Given the description of an element on the screen output the (x, y) to click on. 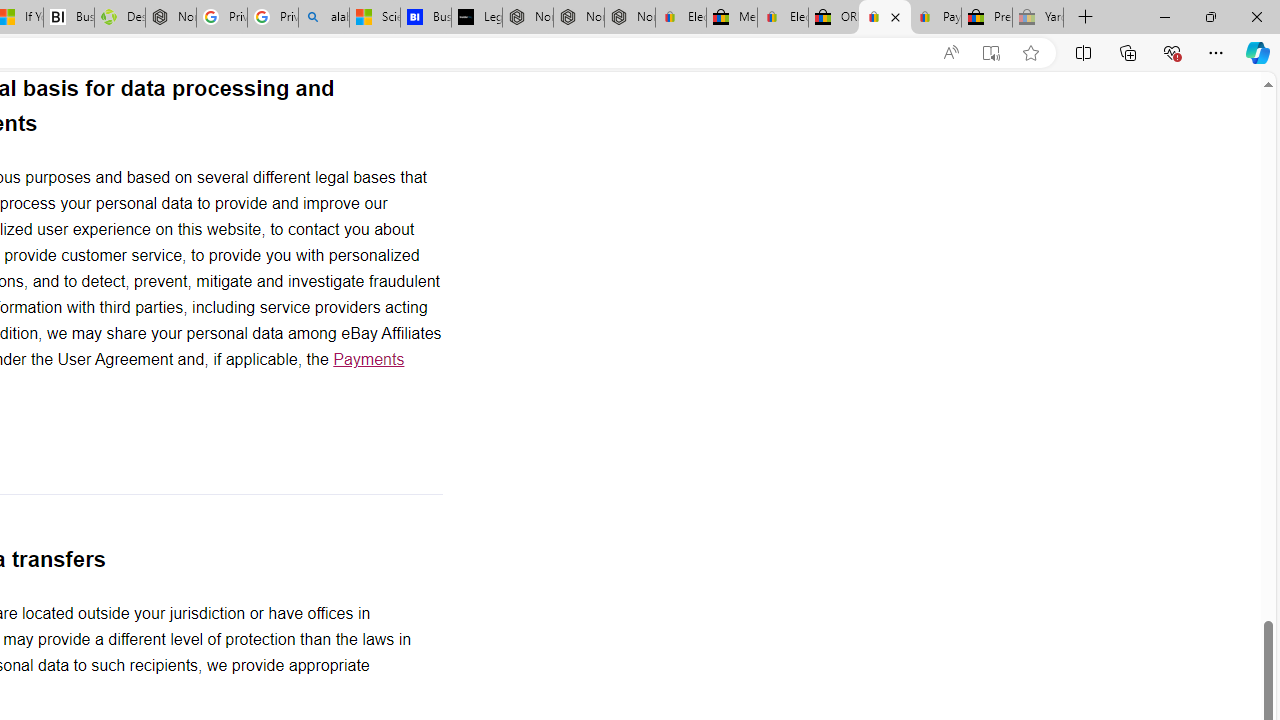
Nordace - My Account (170, 17)
